Given the description of an element on the screen output the (x, y) to click on. 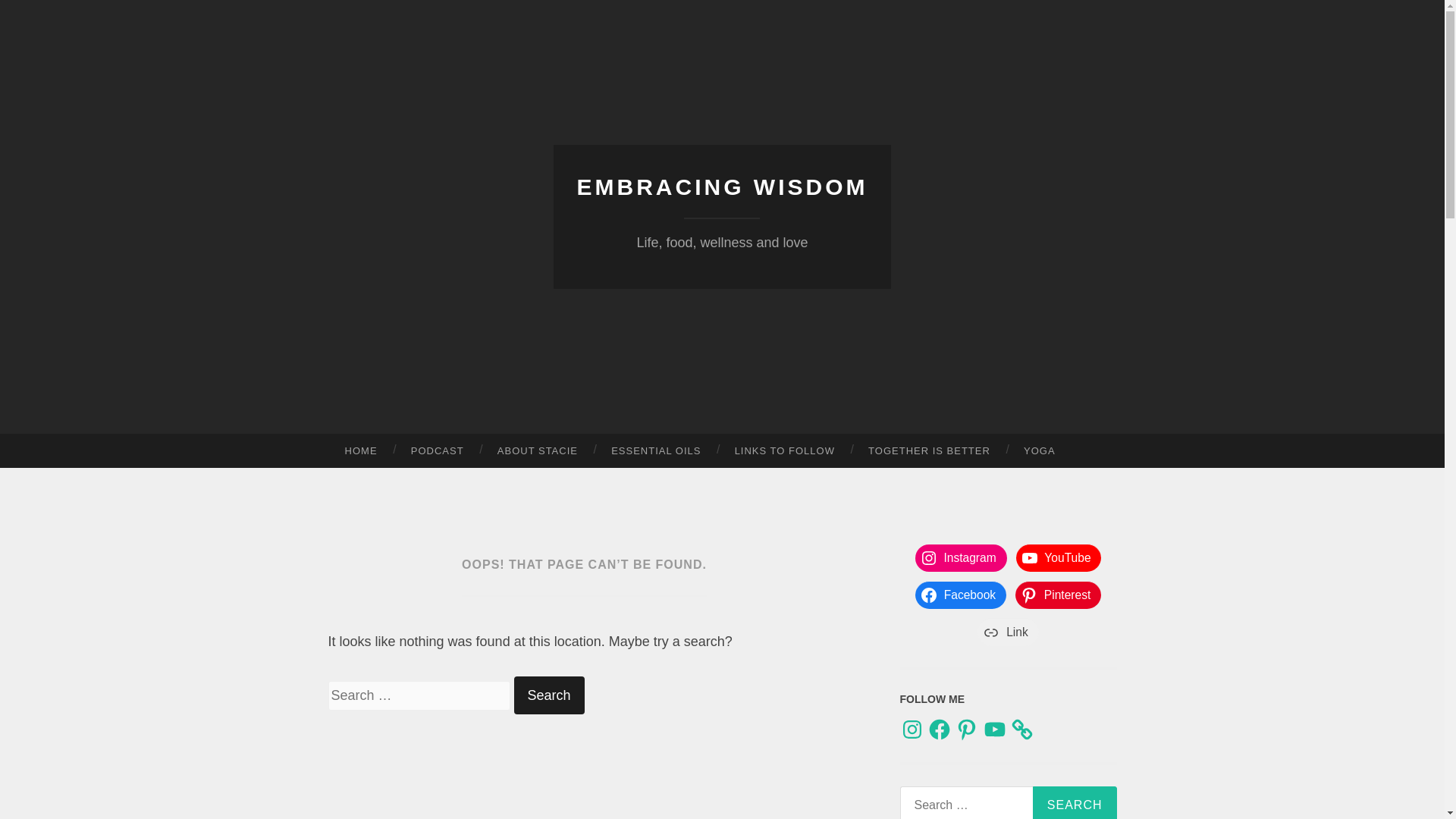
Link (1007, 632)
ABOUT STACIE (537, 451)
Pinterest (1057, 595)
Pinterest (966, 729)
Facebook (939, 729)
Instagram (911, 729)
TOGETHER IS BETTER (929, 451)
Search (1074, 802)
Search (549, 695)
Search (1074, 802)
